Given the description of an element on the screen output the (x, y) to click on. 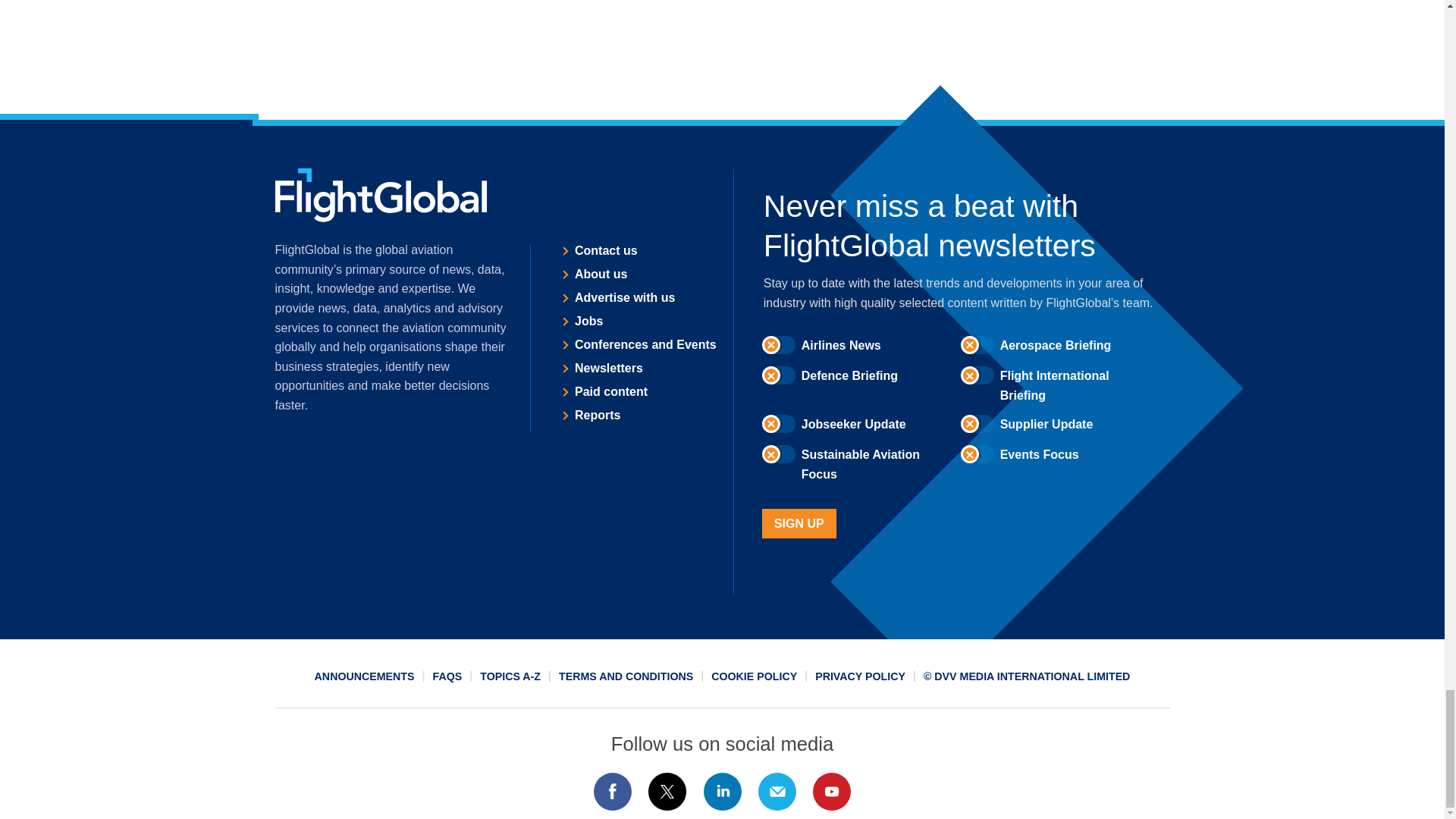
Connect with us on Facebook (611, 791)
Connect with us on Twitter (667, 791)
Connect with us on Youtube (831, 791)
